Given the description of an element on the screen output the (x, y) to click on. 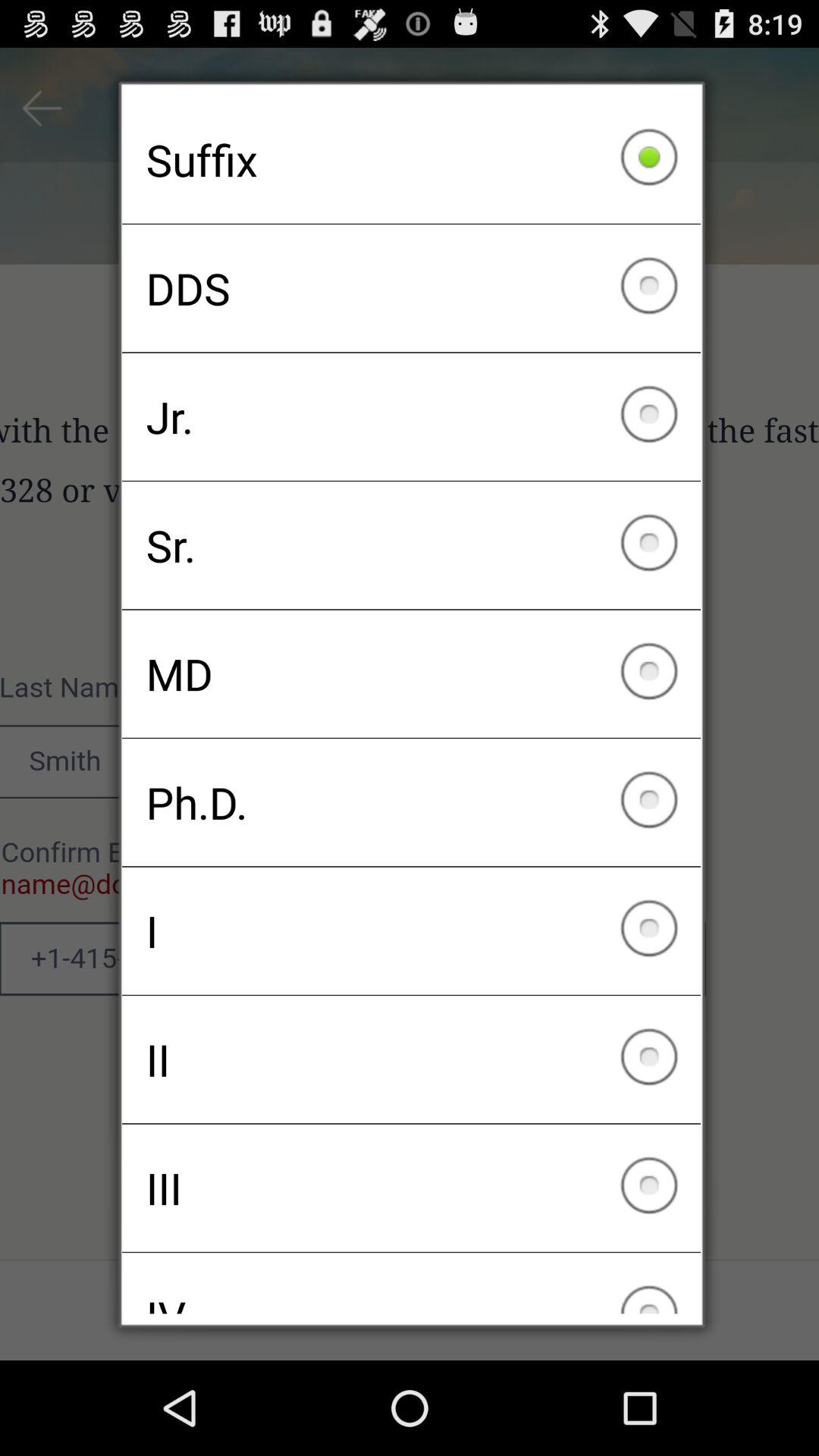
launch the checkbox above the ii icon (411, 930)
